Given the description of an element on the screen output the (x, y) to click on. 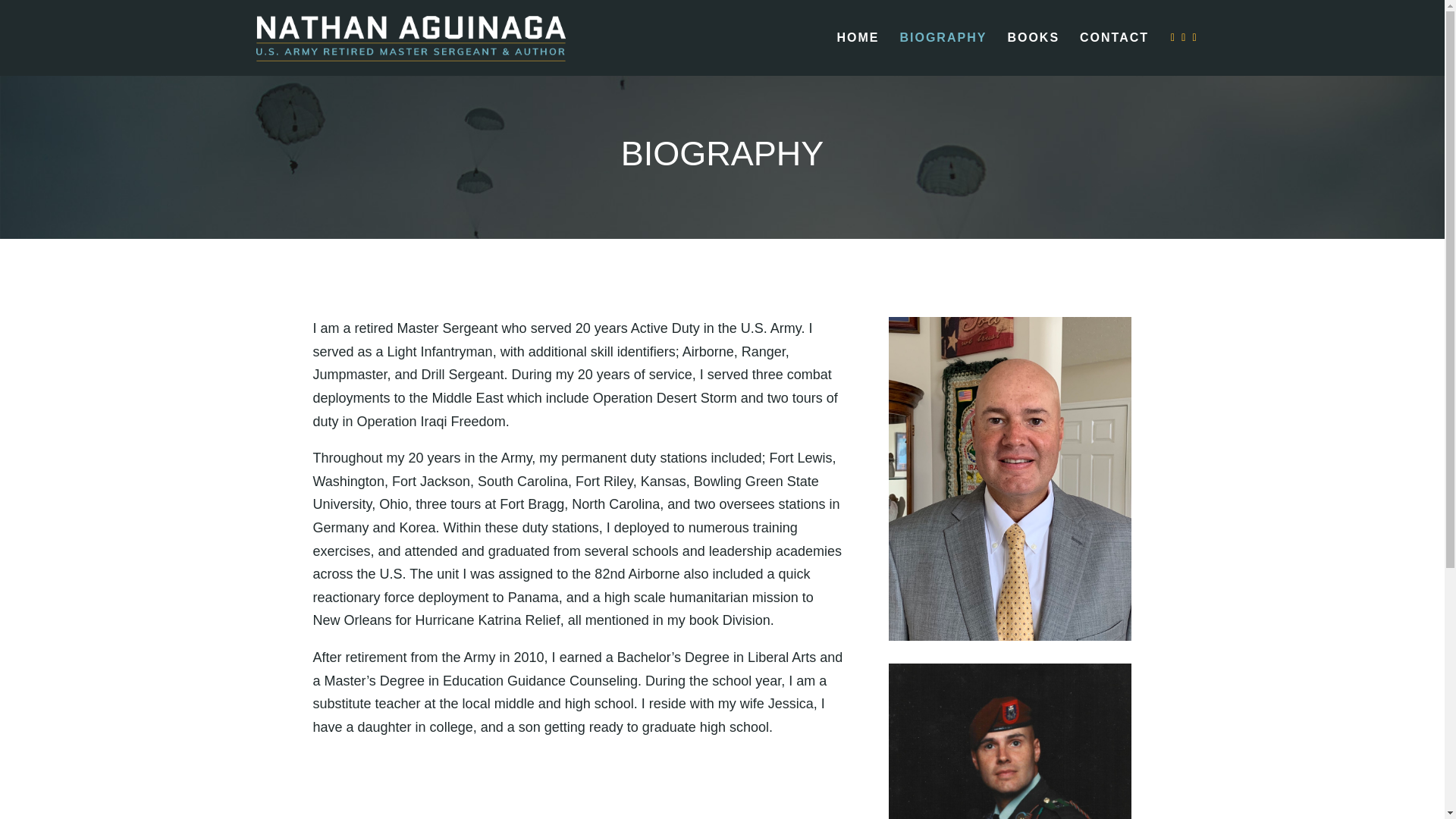
BIOGRAPHY (943, 54)
BOOKS (1033, 54)
HOME (857, 54)
CONTACT (1114, 54)
